Given the description of an element on the screen output the (x, y) to click on. 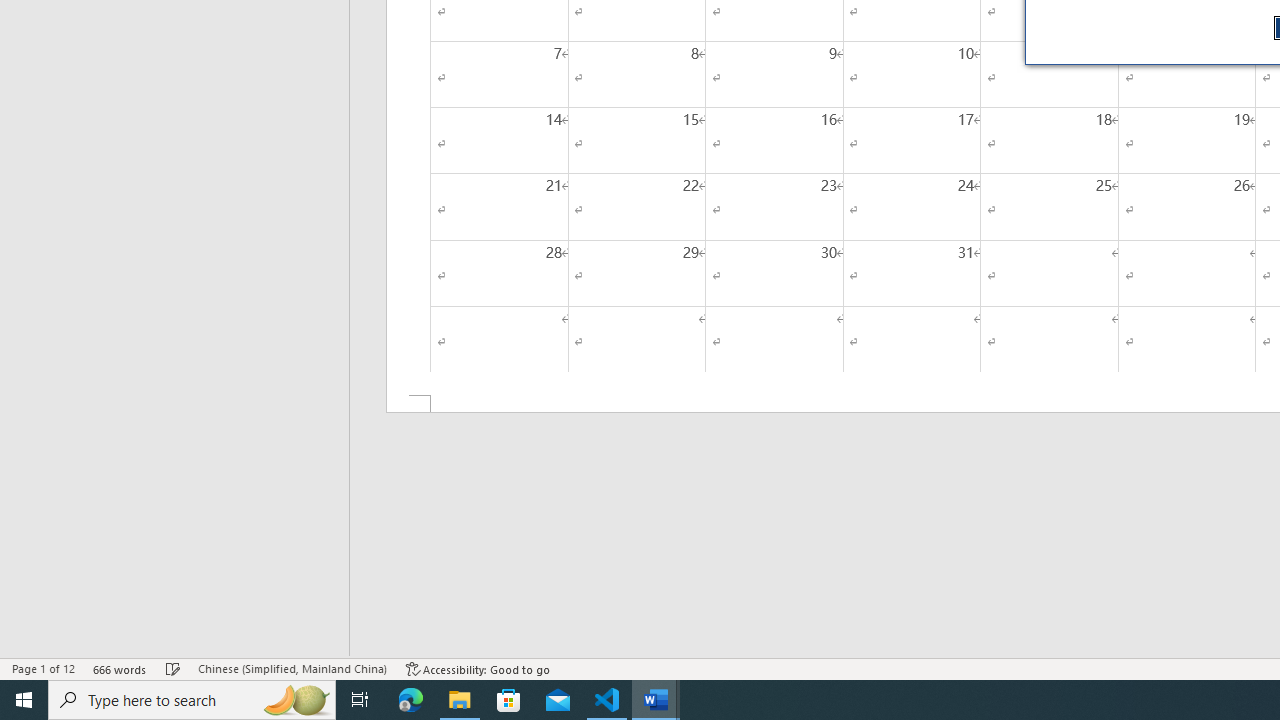
Spelling and Grammar Check Checking (173, 668)
Word - 2 running windows (656, 699)
Visual Studio Code - 1 running window (607, 699)
Search highlights icon opens search home window (295, 699)
Type here to search (191, 699)
Start (24, 699)
Task View (359, 699)
Microsoft Store (509, 699)
Word Count 666 words (119, 668)
File Explorer - 1 running window (460, 699)
Microsoft Edge (411, 699)
